Given the description of an element on the screen output the (x, y) to click on. 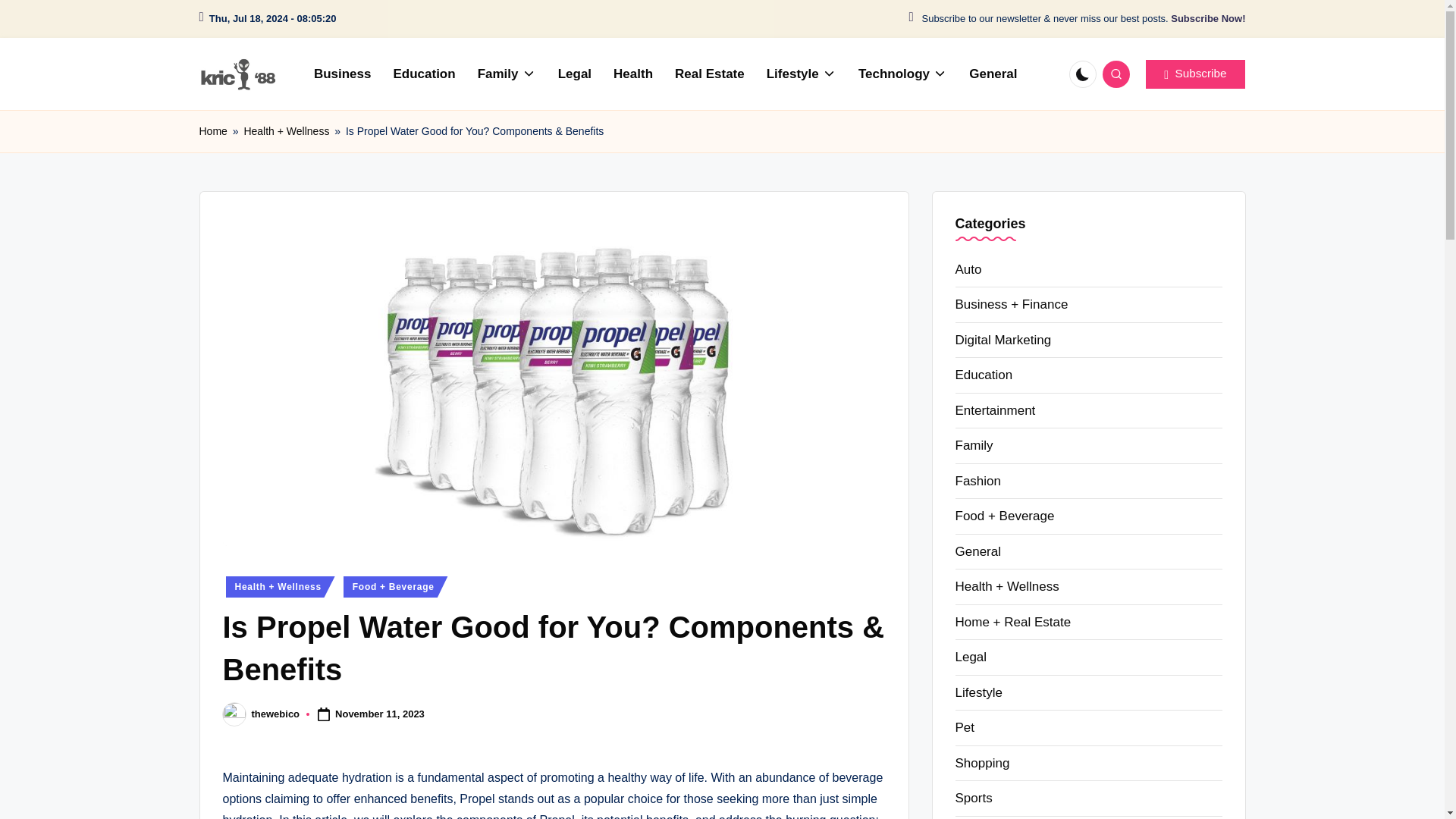
Legal (574, 73)
Education (423, 73)
Business (341, 73)
Health (632, 73)
Real Estate (709, 73)
Lifestyle (801, 73)
View all posts by thewebico (275, 713)
Subscribe Now! (1207, 18)
Family (507, 73)
